Given the description of an element on the screen output the (x, y) to click on. 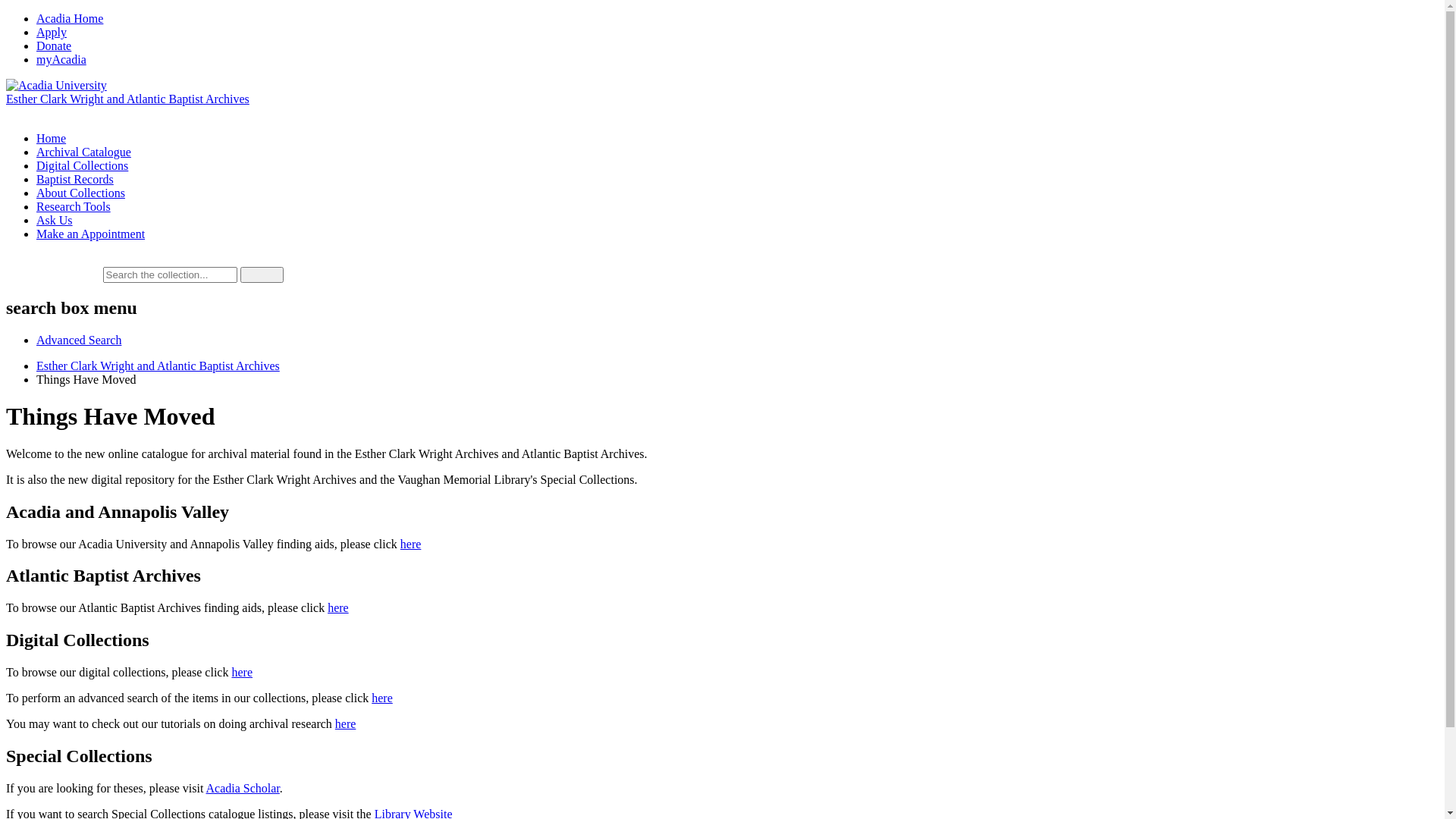
Ask Us Element type: text (54, 219)
Make an Appointment Element type: text (90, 233)
here Element type: text (241, 671)
Advanced Search Element type: text (78, 339)
myAcadia Element type: text (61, 59)
Apply Element type: text (51, 31)
Baptist Records Element type: text (74, 178)
here Element type: text (410, 542)
Esther Clark Wright and Atlantic Baptist Archives Element type: text (127, 98)
Acadia Scholar Element type: text (242, 787)
Skip to main content Element type: text (6, 12)
Archival Catalogue Element type: text (83, 151)
Donate Element type: text (53, 45)
Research Tools Element type: text (73, 206)
About Collections Element type: text (80, 192)
Esther Clark Wright and Atlantic Baptist Archives Element type: text (157, 365)
here Element type: text (337, 607)
here Element type: text (345, 723)
here Element type: text (381, 697)
Acadia Home Element type: text (69, 18)
Home Element type: text (50, 137)
Digital Collections Element type: text (82, 165)
Search Element type: hover (260, 274)
